Given the description of an element on the screen output the (x, y) to click on. 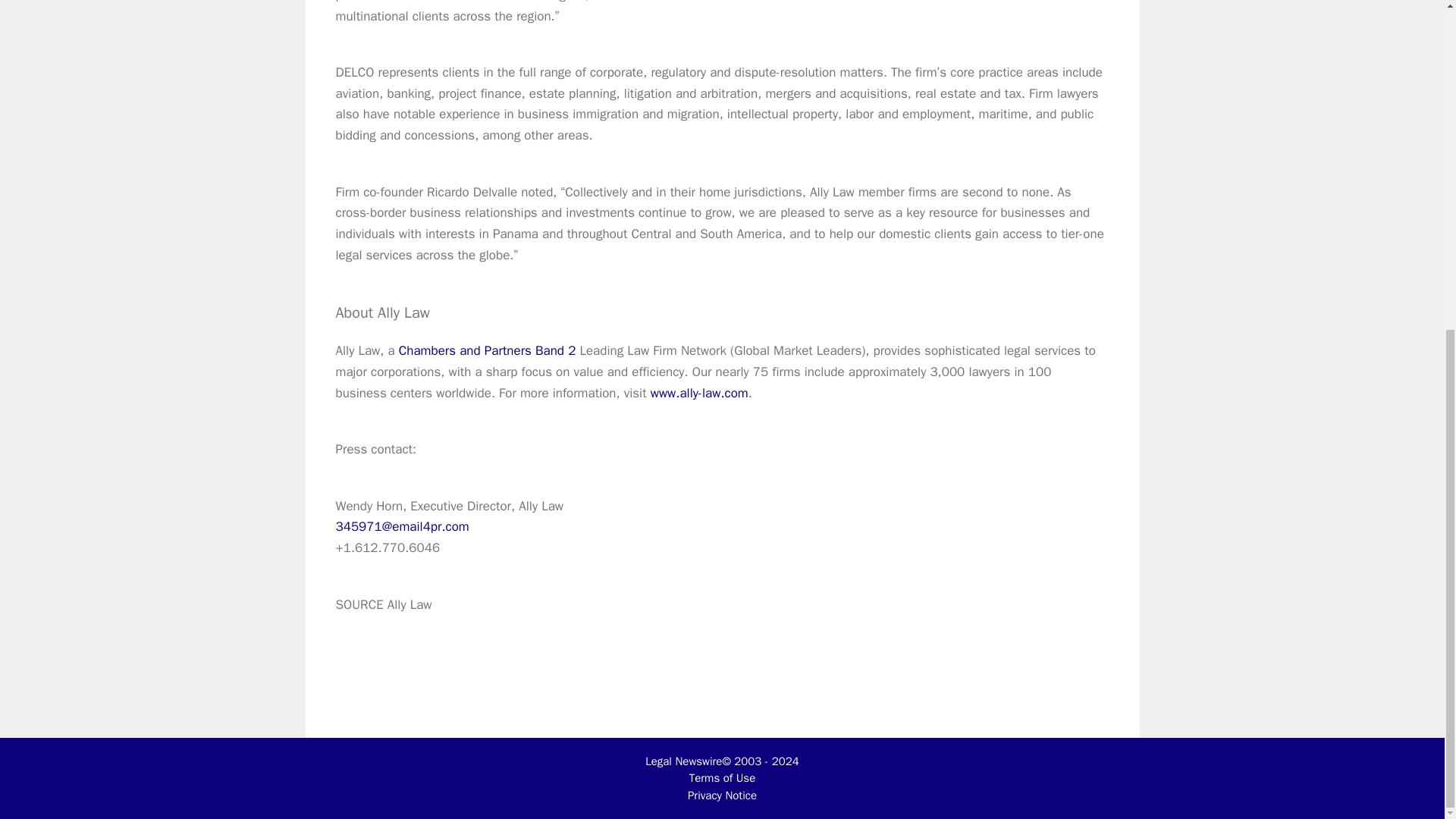
www.ally-law.com (699, 392)
Terms of Use (721, 777)
Privacy Notice (722, 795)
Chambers and Partners Band 2 (487, 350)
